Given the description of an element on the screen output the (x, y) to click on. 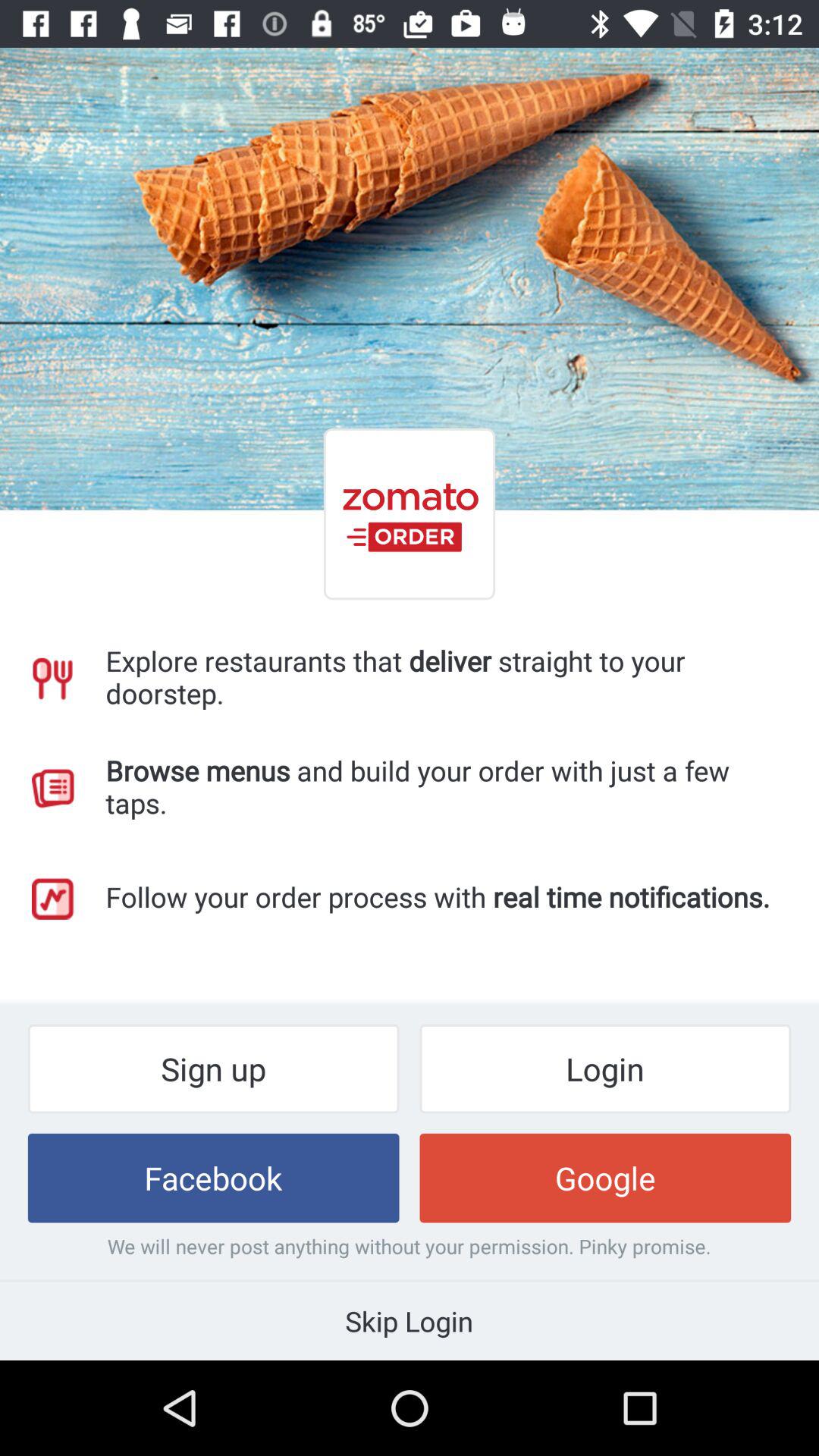
click the icon above we will never icon (605, 1177)
